Given the description of an element on the screen output the (x, y) to click on. 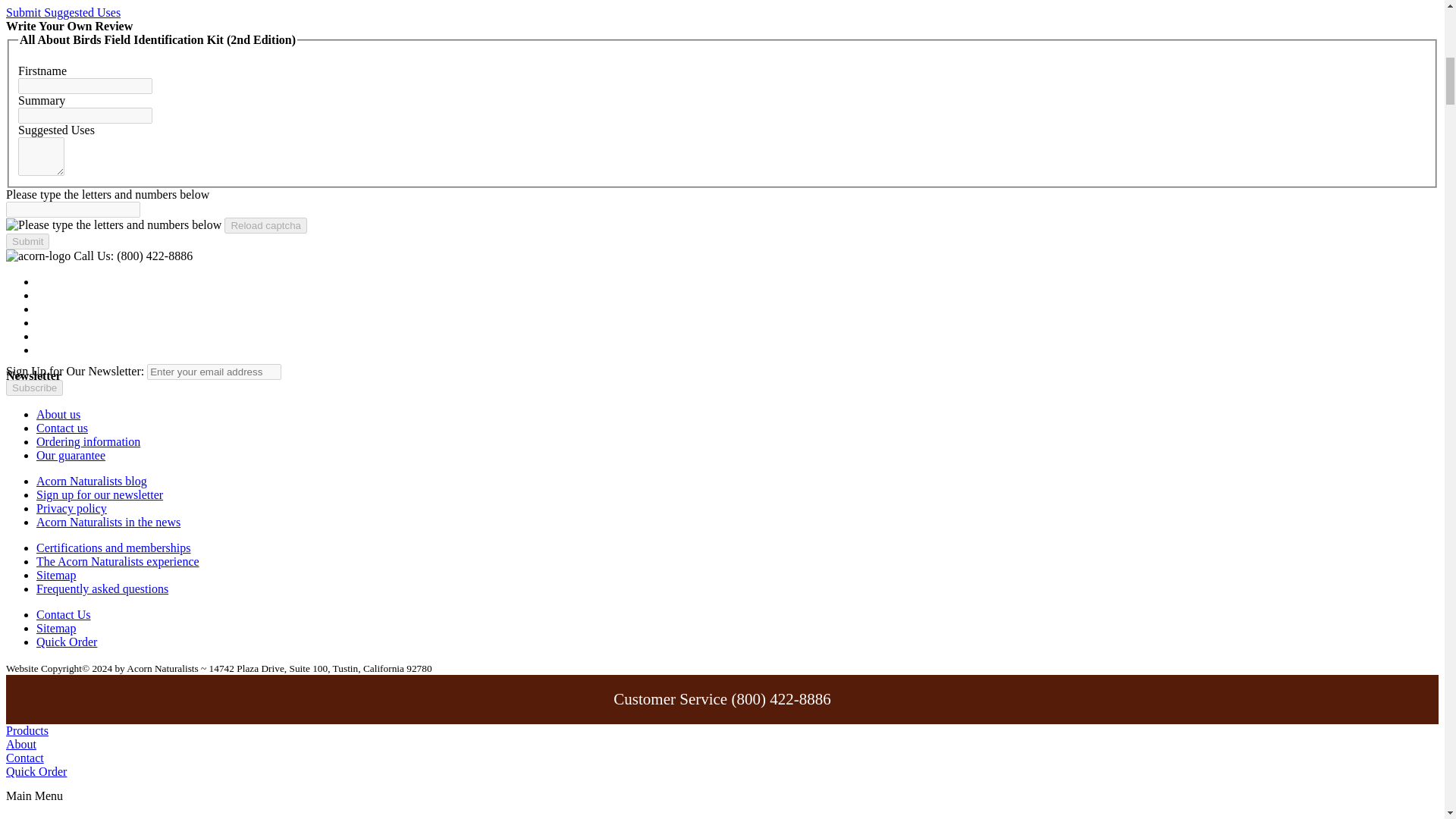
Reload captcha (265, 225)
Contact us (61, 427)
Subscribe (33, 387)
Submit (27, 241)
Reload captcha (265, 225)
Submit Suggested Uses (62, 11)
Ordering information (87, 440)
About us (58, 413)
Subscribe (33, 387)
